Given the description of an element on the screen output the (x, y) to click on. 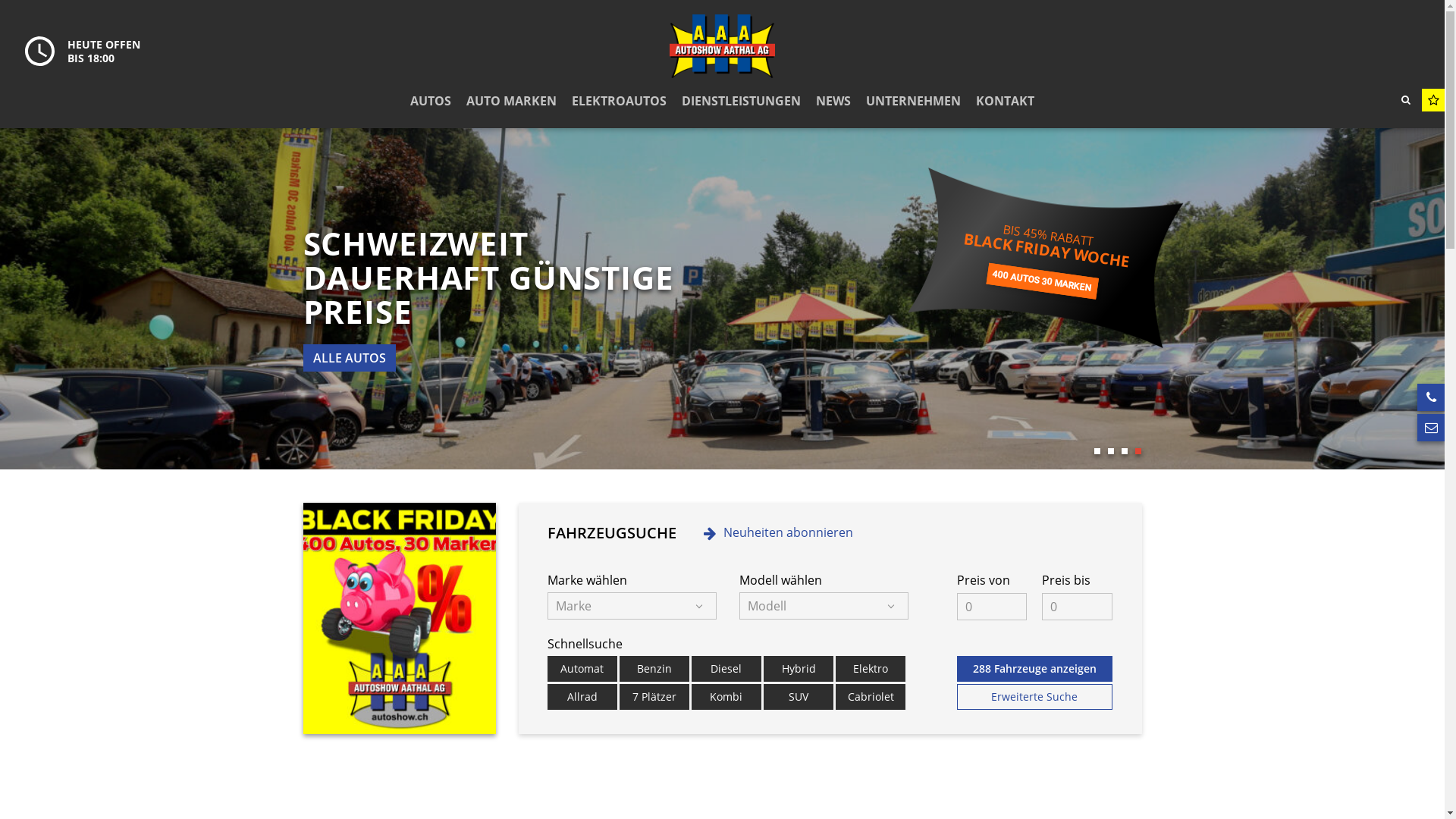
Search Element type: text (1405, 98)
UNTERNEHMEN Element type: text (913, 100)
4 Element type: text (1137, 451)
288 Fahrzeuge anzeigen Element type: text (1035, 668)
Marke Element type: text (631, 605)
FAVORITE Element type: text (1432, 99)
3 Element type: text (1123, 451)
1 Element type: text (1096, 451)
2 Element type: text (1110, 451)
NEWS Element type: text (832, 100)
Neuheiten abonnieren Element type: text (778, 532)
AUTOS Element type: text (430, 100)
AUTO MARKEN Element type: text (511, 100)
Neuheiten Abonnieren Element type: text (702, 319)
WIE SIE UNS FINDEN Element type: text (373, 357)
Erweiterte Suche Element type: text (1035, 696)
email Element type: text (1430, 427)
ELEKTROAUTOS Element type: text (618, 100)
DIENSTLEISTUNGEN Element type: text (740, 100)
HEUTE OFFEN
BIS 18:00 Element type: text (82, 51)
Modell Element type: text (822, 605)
Autoshow Aathal Element type: text (721, 46)
phone Element type: text (1430, 397)
KONTAKT Element type: text (1004, 100)
400 AUTOS 30 MARKEN Element type: text (1040, 272)
